Given the description of an element on the screen output the (x, y) to click on. 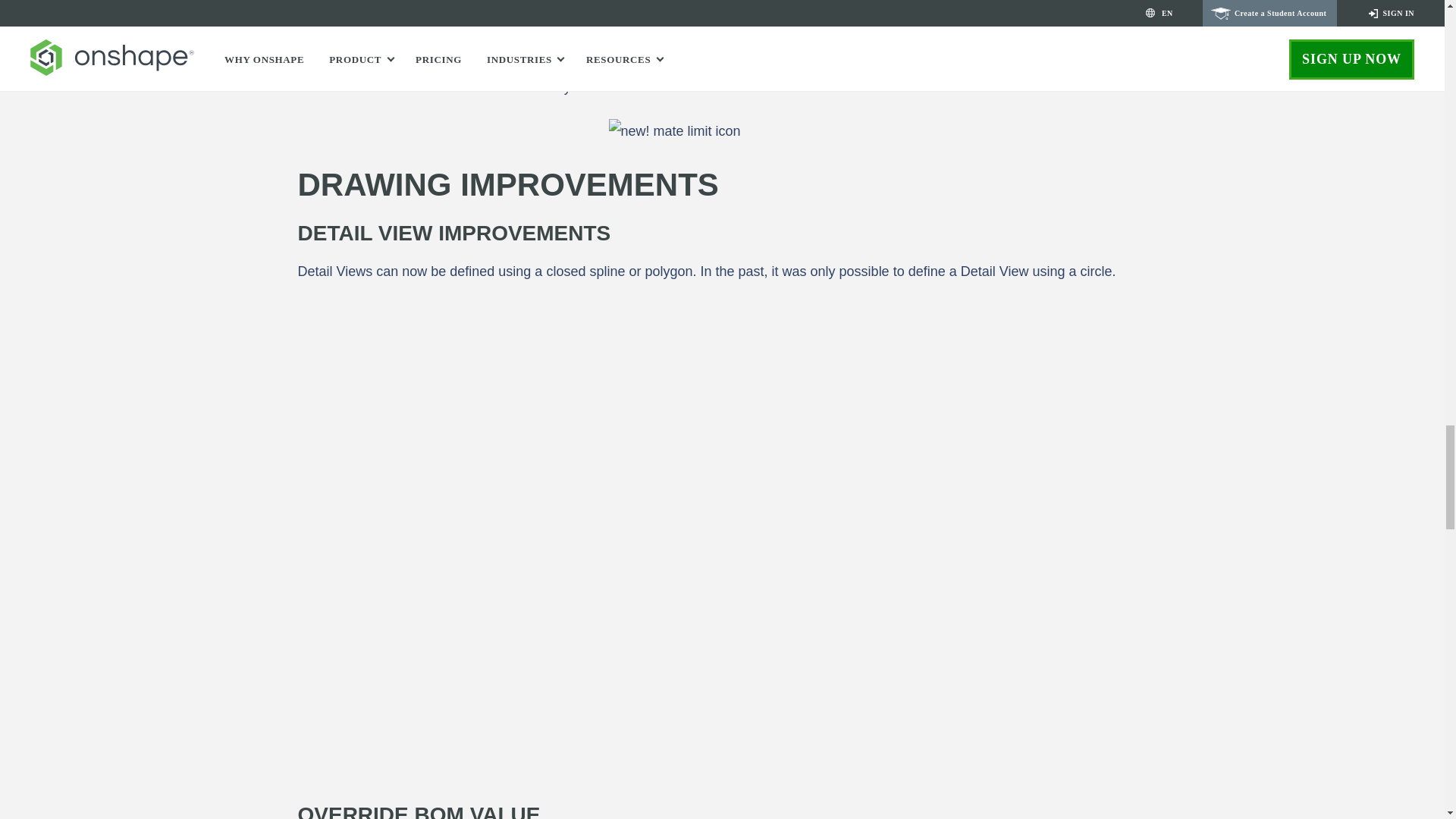
What's New 1.152 Nested Feature Folders Video (722, 7)
